Given the description of an element on the screen output the (x, y) to click on. 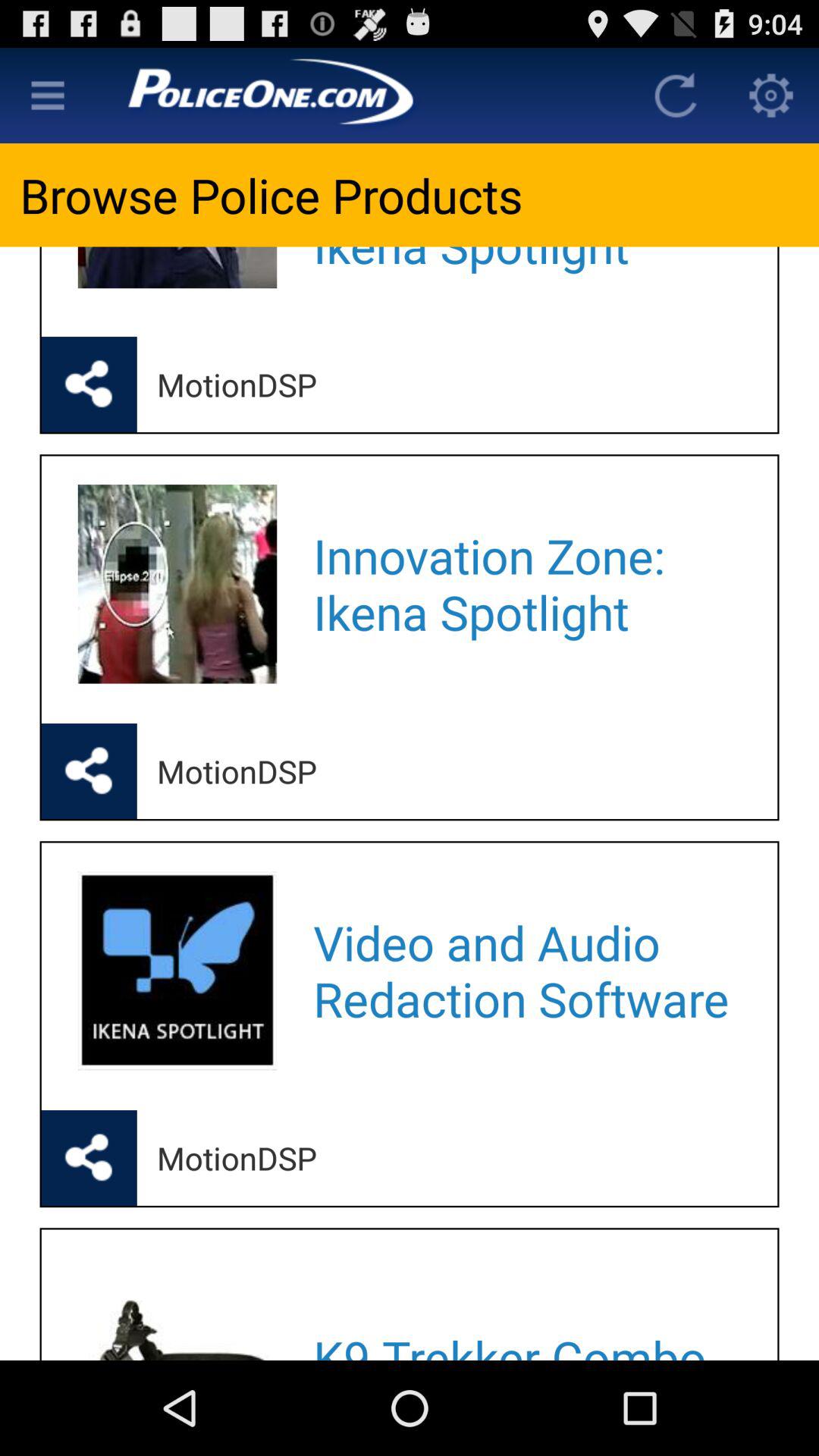
turn on the app above the browse police products icon (47, 95)
